Given the description of an element on the screen output the (x, y) to click on. 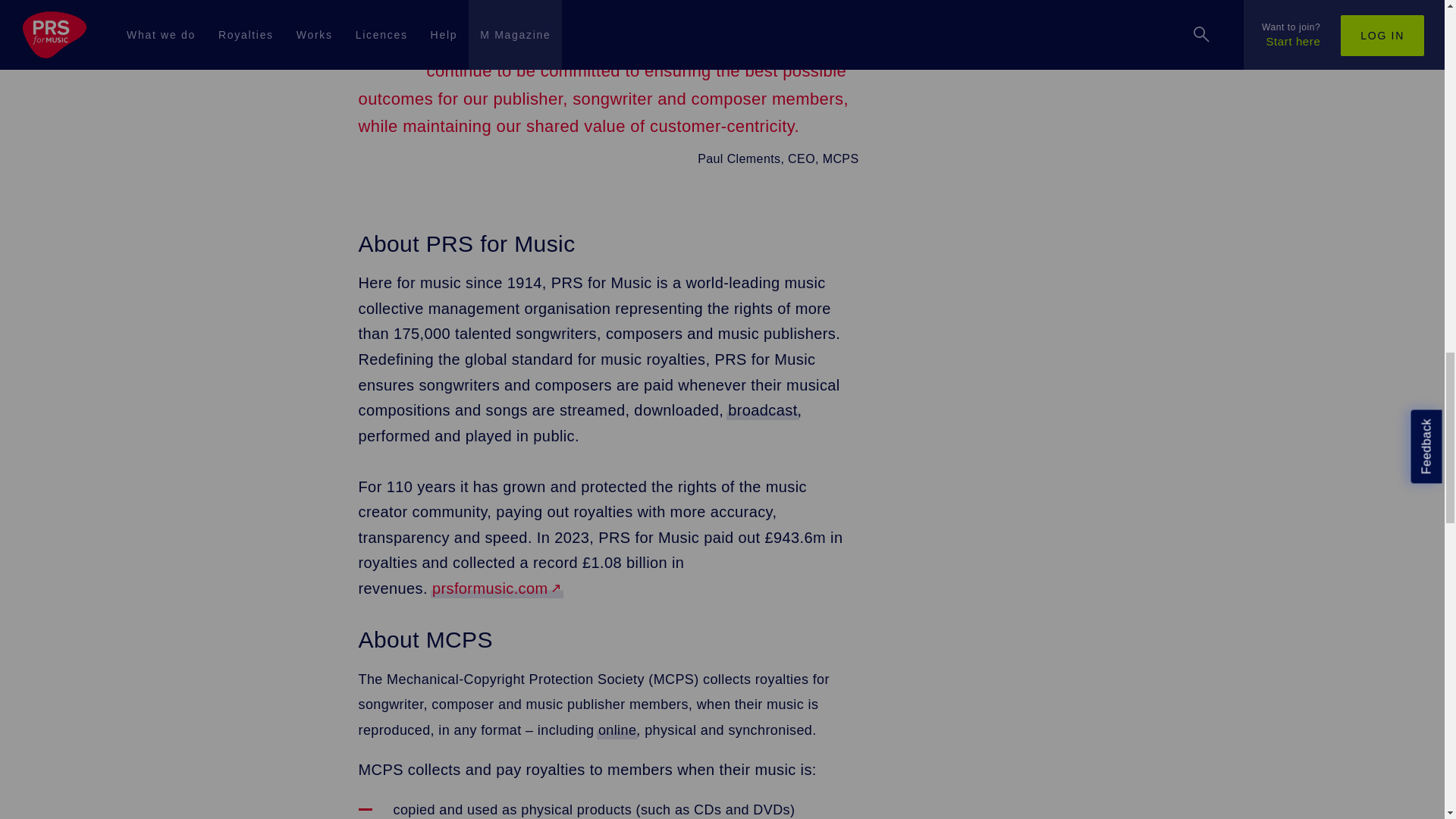
What does this mean ?  (761, 410)
What does this mean ?  (616, 730)
